Given the description of an element on the screen output the (x, y) to click on. 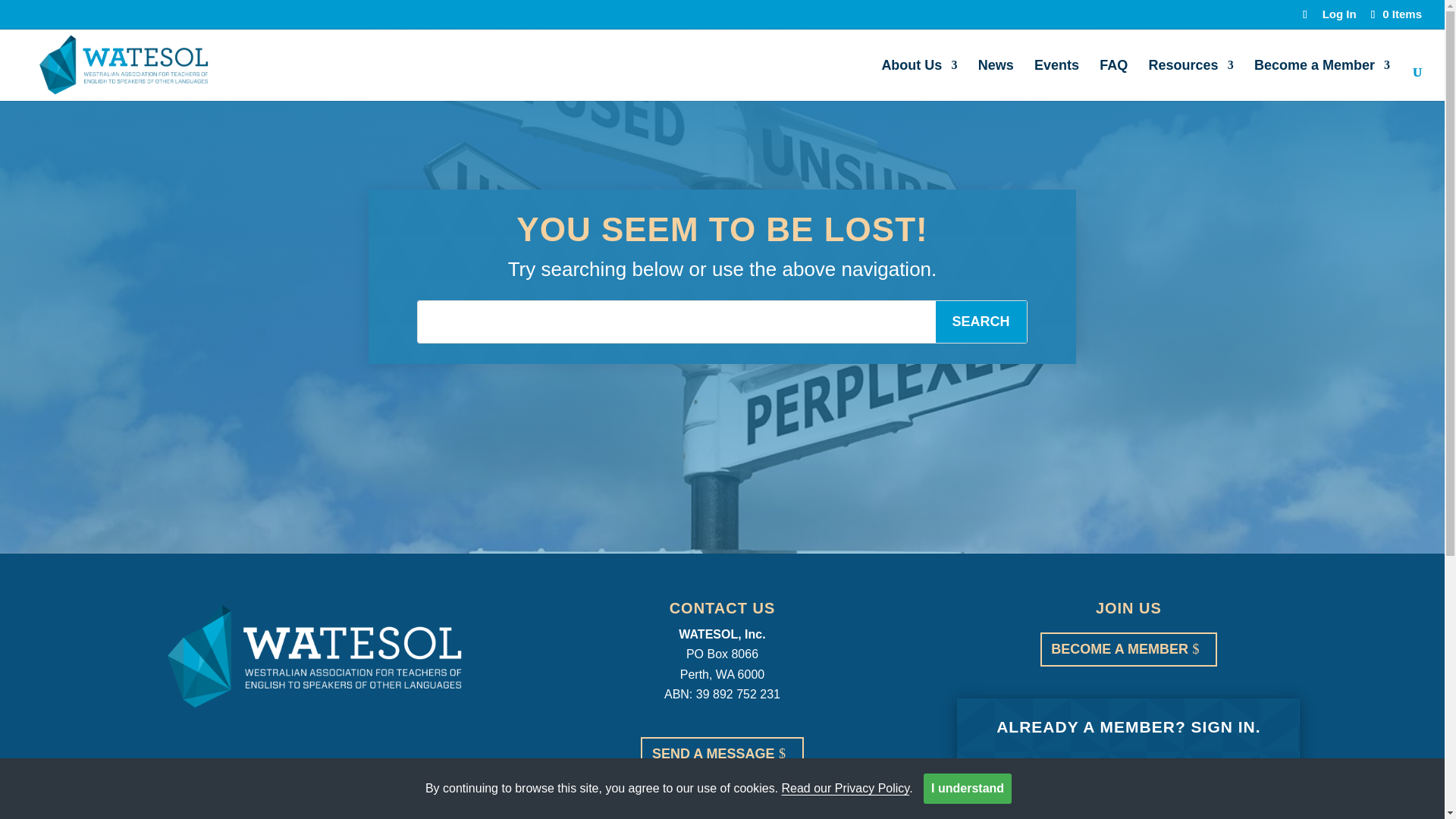
About Us (918, 78)
Events (1055, 78)
Search (981, 322)
0 Items (1395, 13)
Resources (1190, 78)
Become a Member (1321, 78)
Log In (1339, 17)
Search (981, 322)
